Given the description of an element on the screen output the (x, y) to click on. 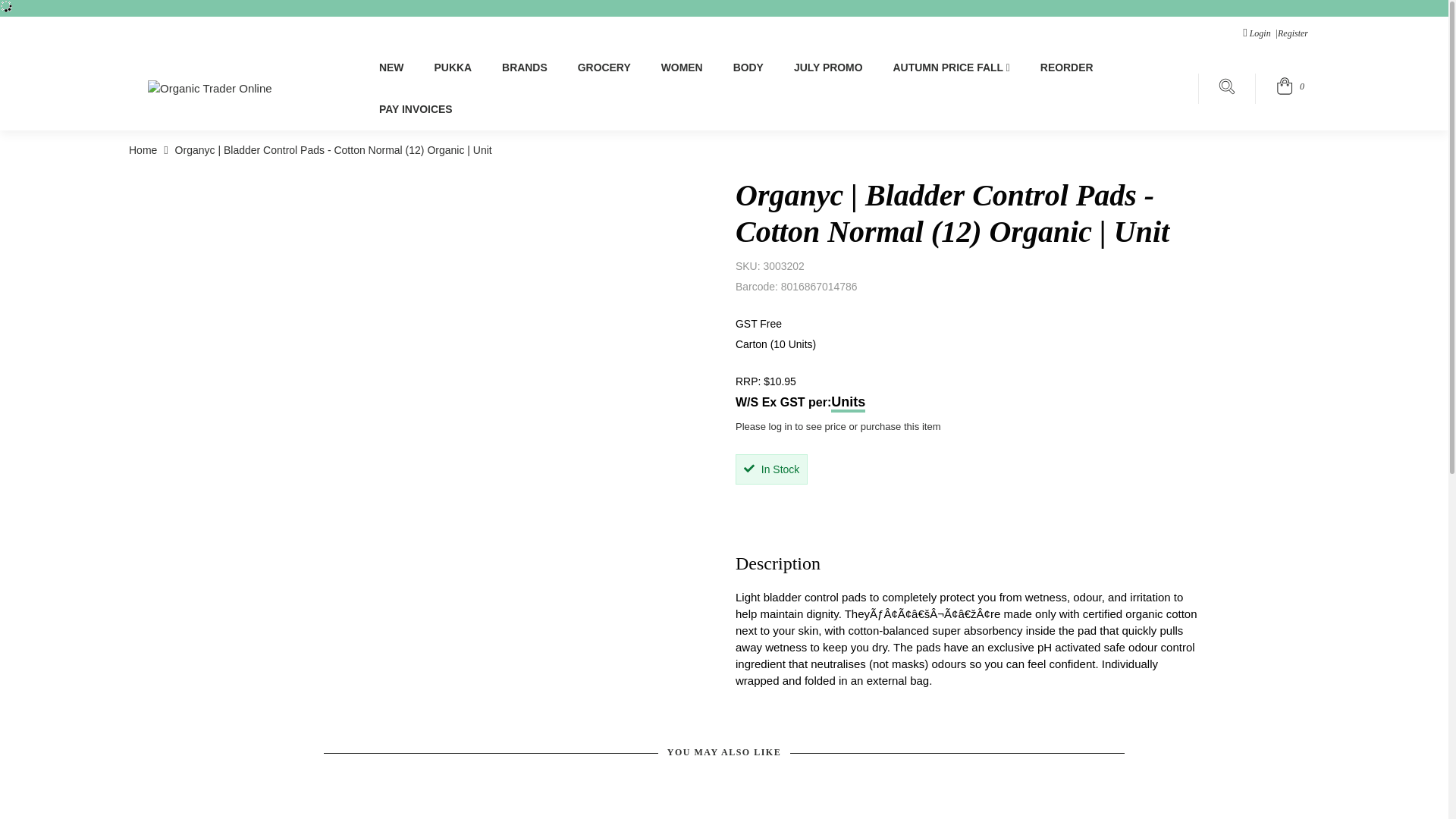
Organic Trader Online (210, 88)
Basket (1291, 90)
Login (1254, 33)
PUKKA (452, 67)
GROCERY (604, 67)
BRANDS (524, 67)
Register (1297, 33)
